Given the description of an element on the screen output the (x, y) to click on. 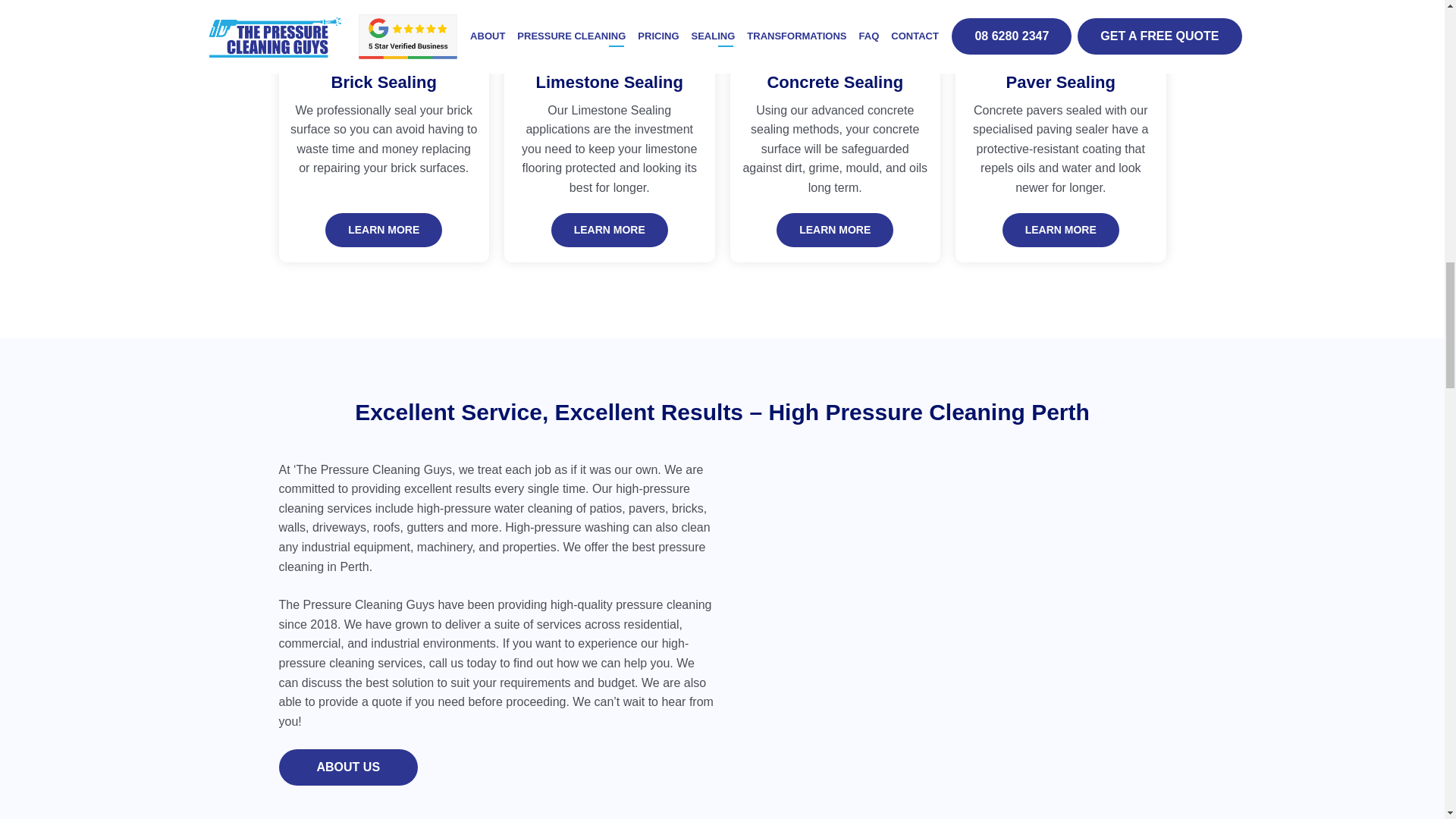
LEARN MORE (834, 229)
LEARN MORE (383, 229)
LEARN MORE (609, 229)
Welcome to The Pressure Cleaning Guys (947, 582)
